Given the description of an element on the screen output the (x, y) to click on. 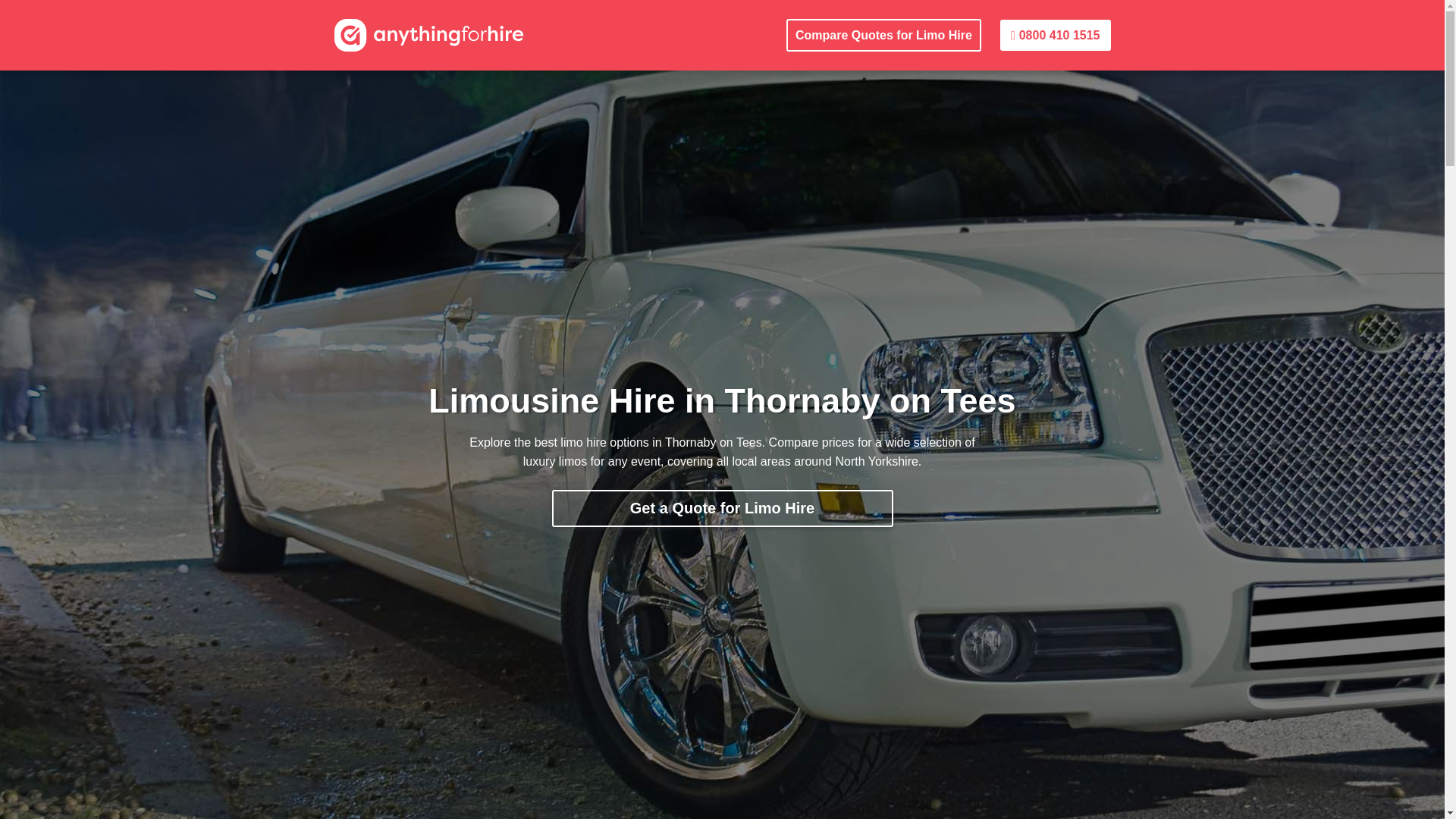
Limo Hire in Thornaby on Tees (427, 34)
Compare Quotes for Limo Hire (883, 34)
Call Us (1055, 34)
Get quotes for Limo Hire in Thornaby on Tees (883, 34)
Compare prices for Limo Hire (722, 508)
0800 410 1515 (1055, 34)
AFH Logo (427, 33)
Get a Quote for Limo Hire (722, 508)
